Given the description of an element on the screen output the (x, y) to click on. 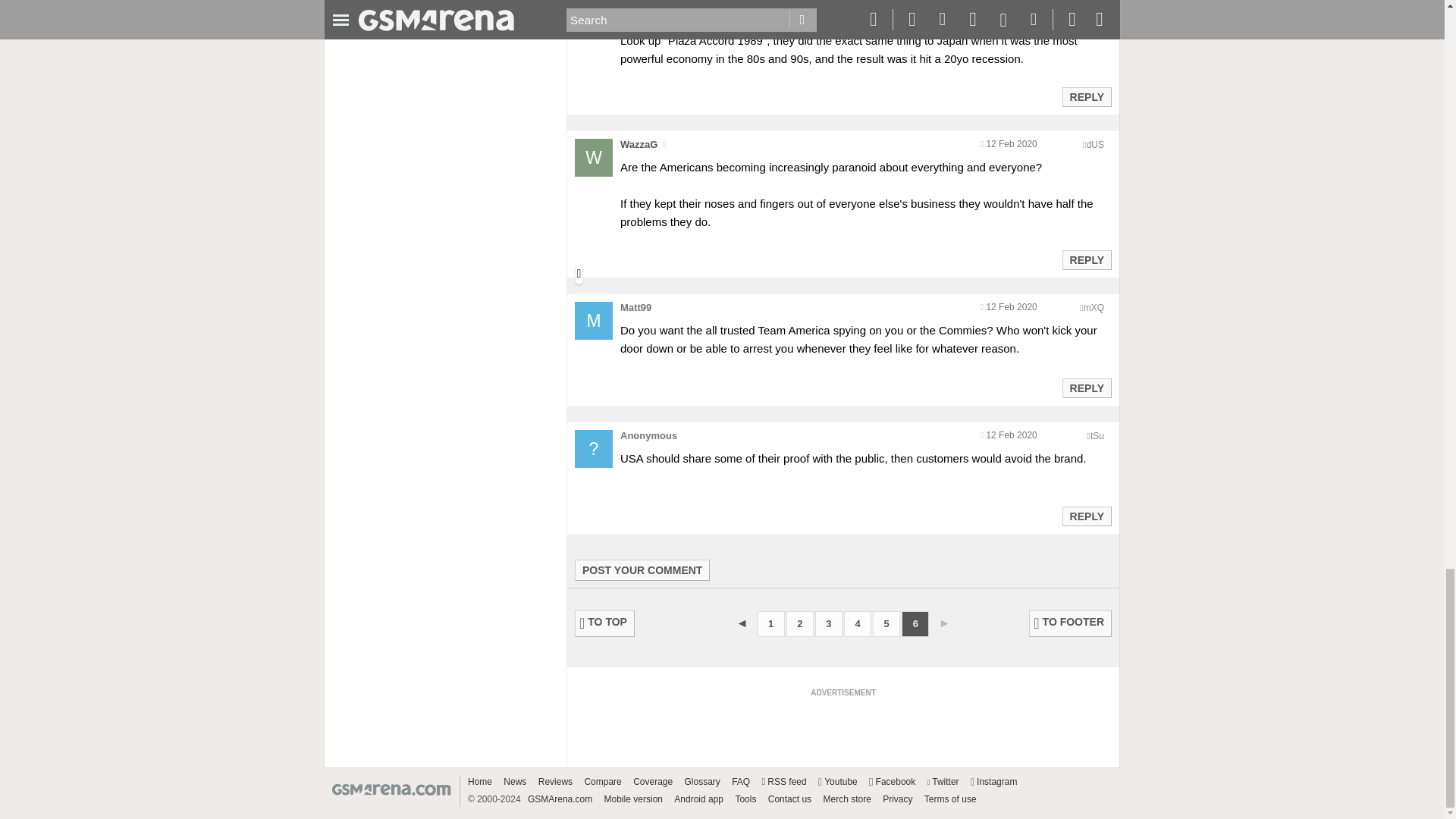
TO TOP (604, 623)
